Given the description of an element on the screen output the (x, y) to click on. 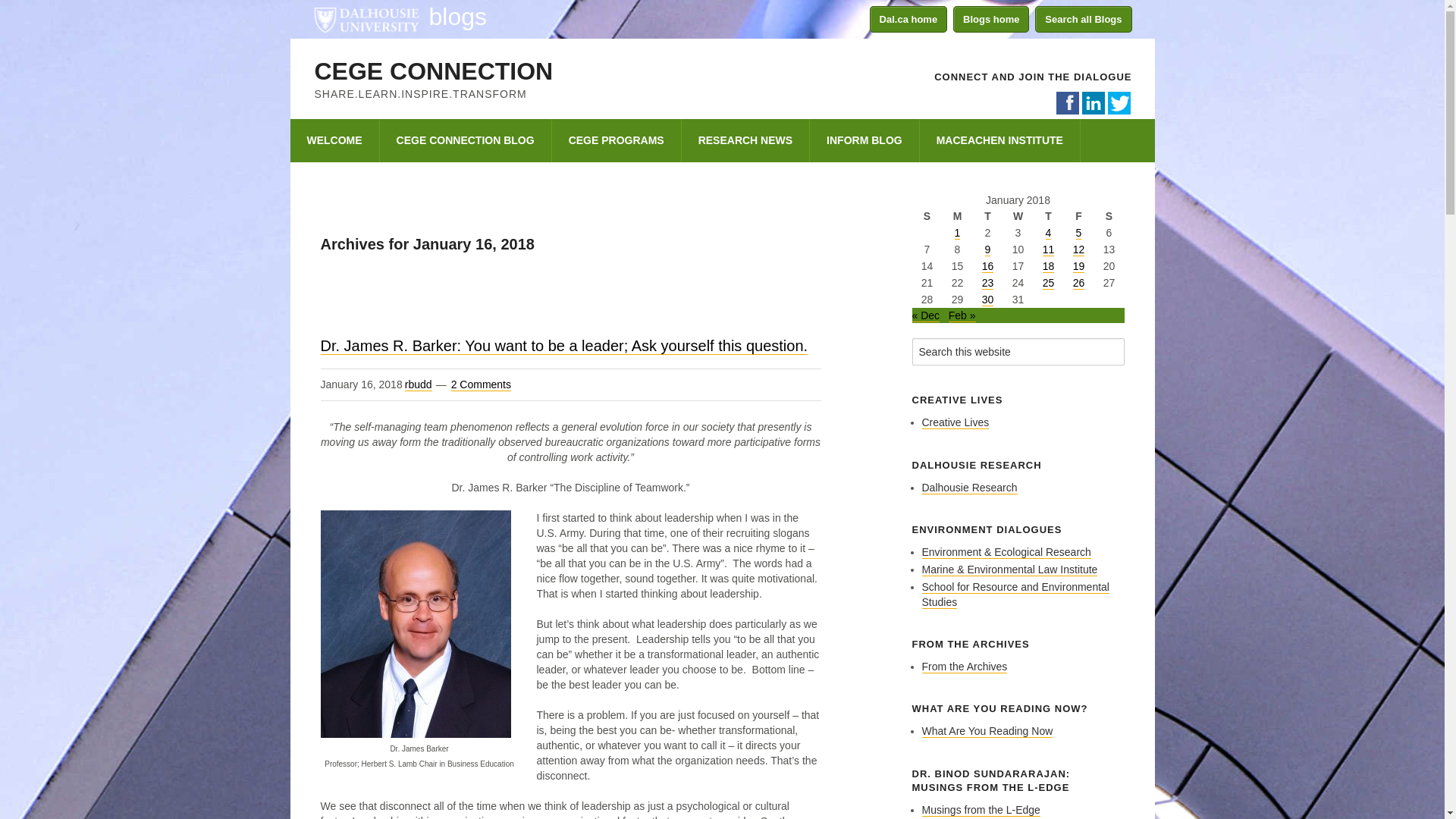
WELCOME (333, 140)
Friday (1077, 216)
Search all Blogs (1083, 18)
rbudd (418, 384)
blogs (458, 16)
18 (1048, 266)
12 (1078, 249)
Dal.ca home (908, 18)
CEGE CONNECTION BLOG (465, 140)
30 (987, 299)
CEGE CONNECTION (433, 71)
Thursday (1047, 216)
Sunday (926, 216)
23 (987, 282)
19 (1078, 266)
